Given the description of an element on the screen output the (x, y) to click on. 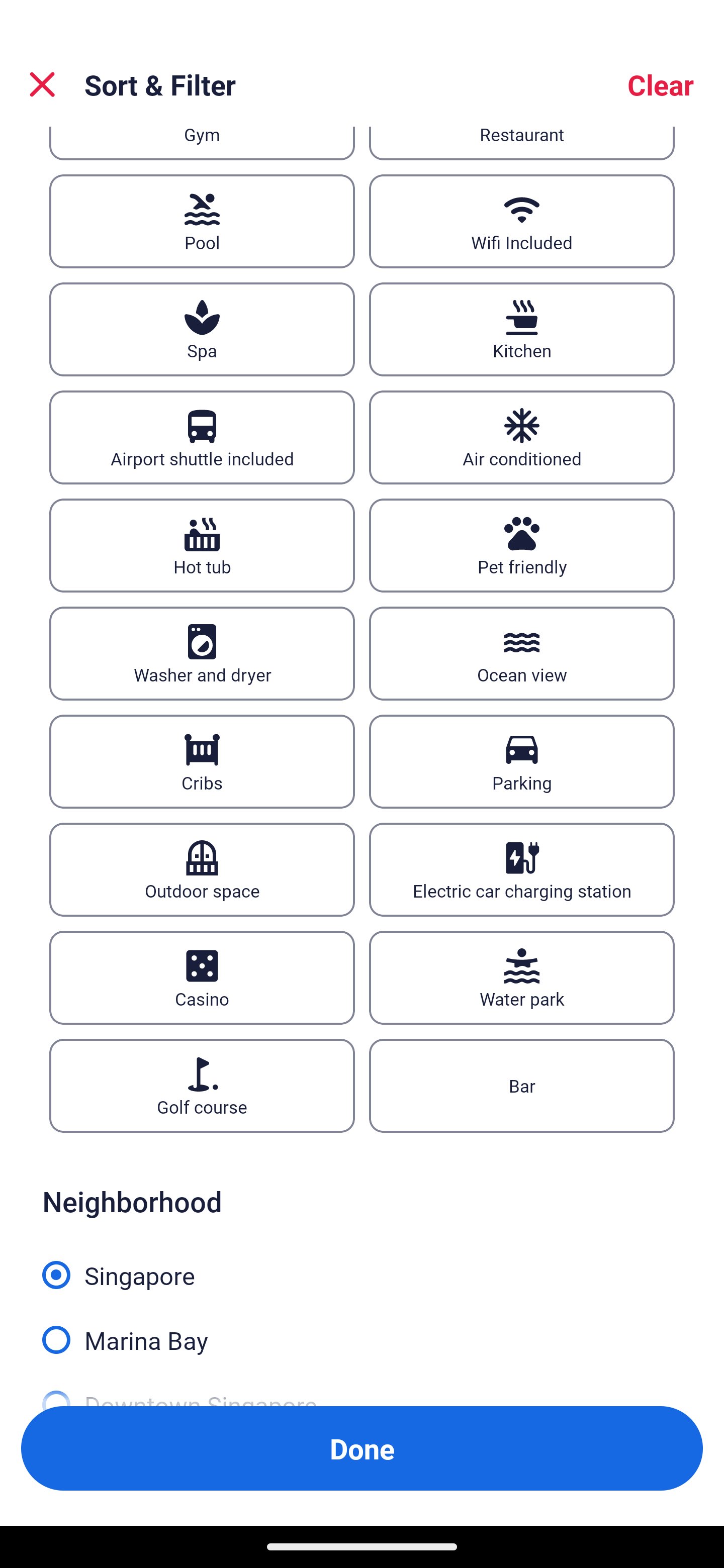
Close Sort and Filter (42, 84)
Clear (660, 84)
Pool (201, 221)
Wifi Included (521, 221)
Spa (201, 329)
Kitchen (521, 329)
Airport shuttle included (201, 437)
Air conditioned (521, 437)
Hot tub (201, 545)
Pet friendly (521, 545)
Washer and dryer (201, 653)
Ocean view (521, 653)
Cribs (201, 762)
Parking (521, 762)
Outdoor space (201, 870)
Electric car charging station (521, 870)
Casino (201, 978)
Water park (521, 978)
Golf course (201, 1085)
Bar (521, 1085)
Marina Bay (361, 1328)
Apply and close Sort and Filter Done (361, 1448)
